Given the description of an element on the screen output the (x, y) to click on. 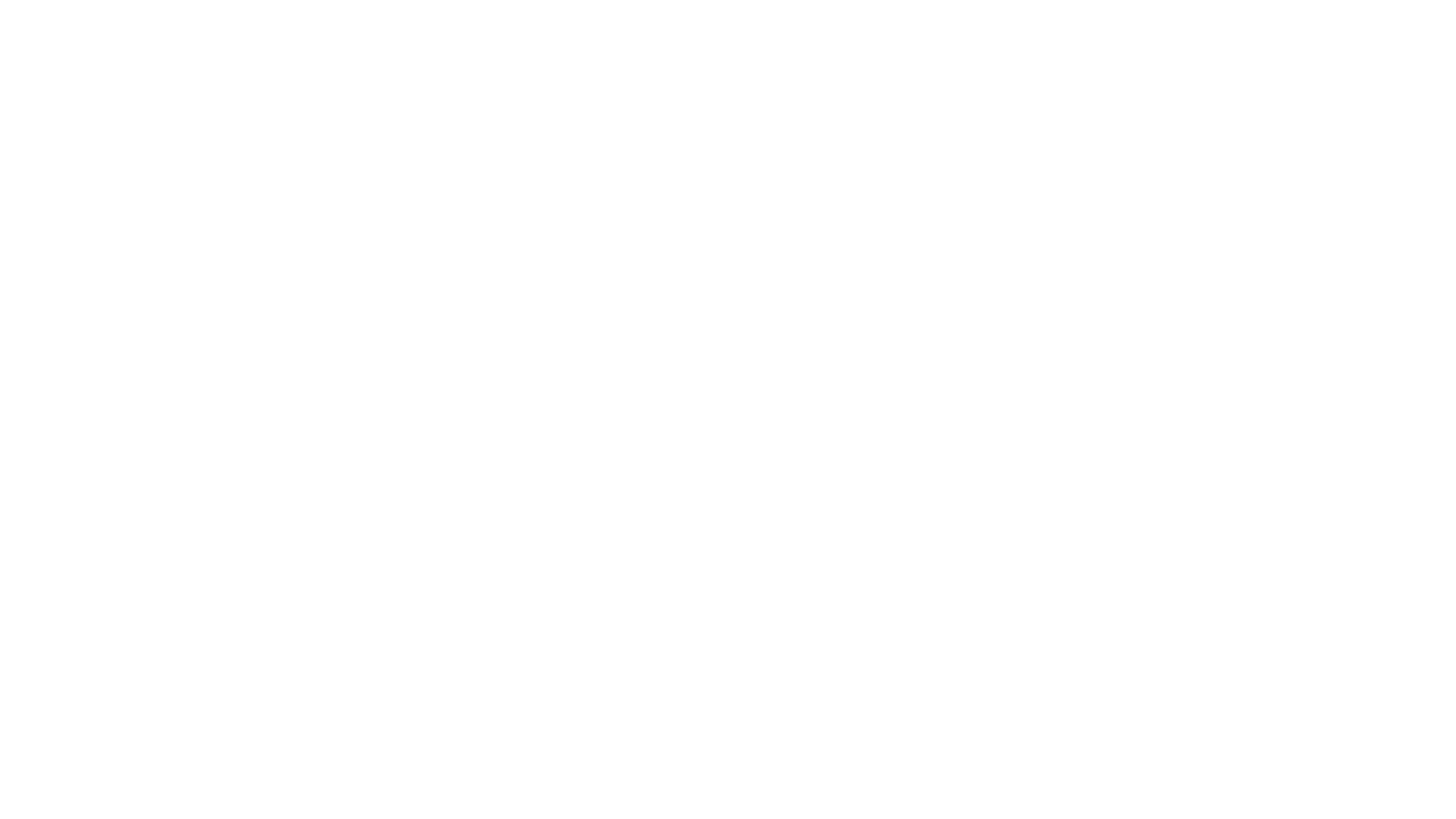
Accueil Element type: hover (25, 32)
En salles Element type: text (1346, 55)
En savoir plus et personnaliser Element type: text (479, 208)
Tickets films Element type: text (1356, 141)
Refuser Element type: text (935, 208)
Accepter Element type: text (1032, 208)
Jeunesse Element type: text (1348, 106)
politique relative aux cookies Element type: text (966, 127)
Aller au contenu principal Element type: text (0, 0)
Bar/Restaurant Element type: text (1362, 122)
